Given the description of an element on the screen output the (x, y) to click on. 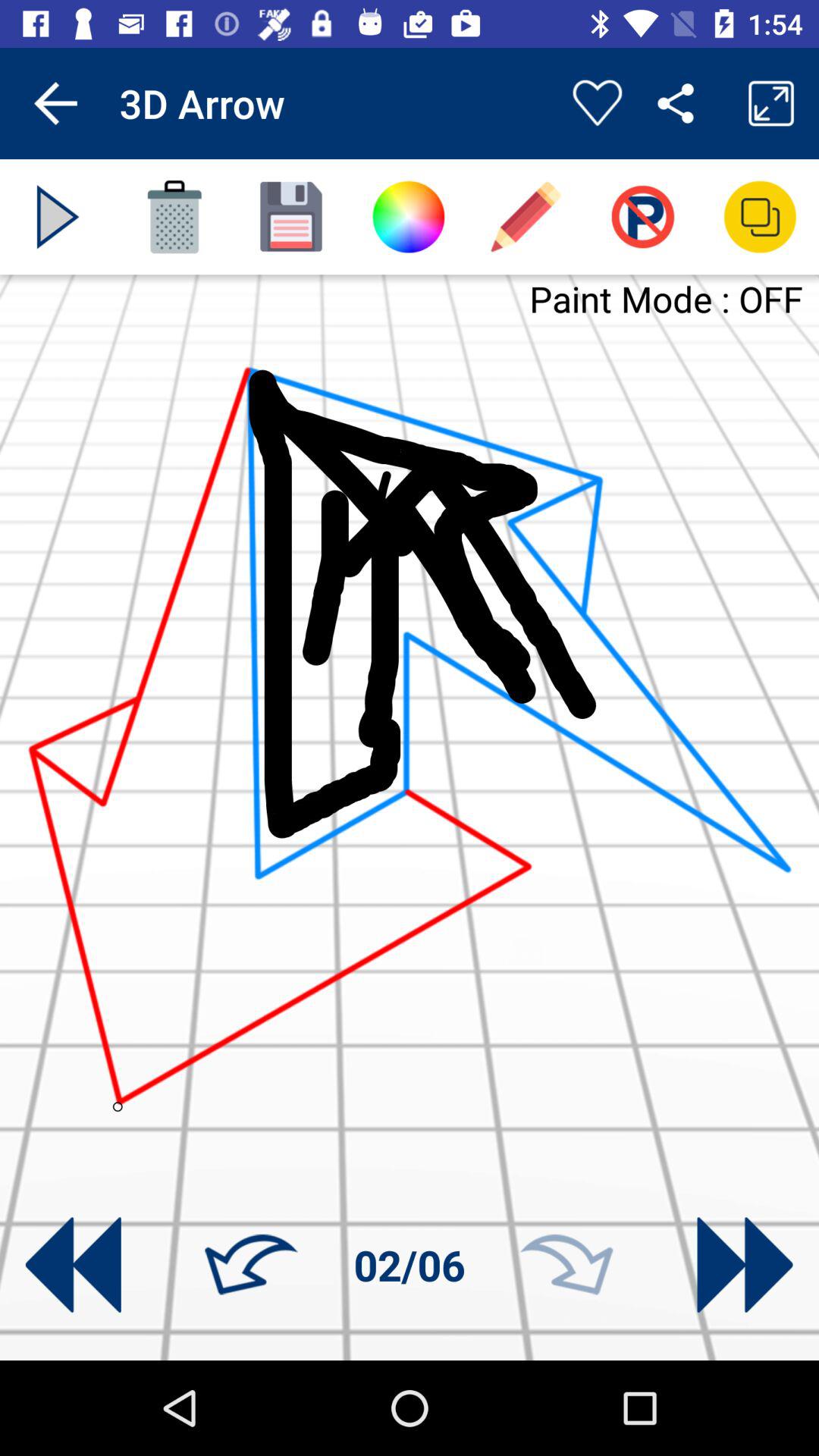
turn on app to the right of the 3d arrow app (597, 102)
